Given the description of an element on the screen output the (x, y) to click on. 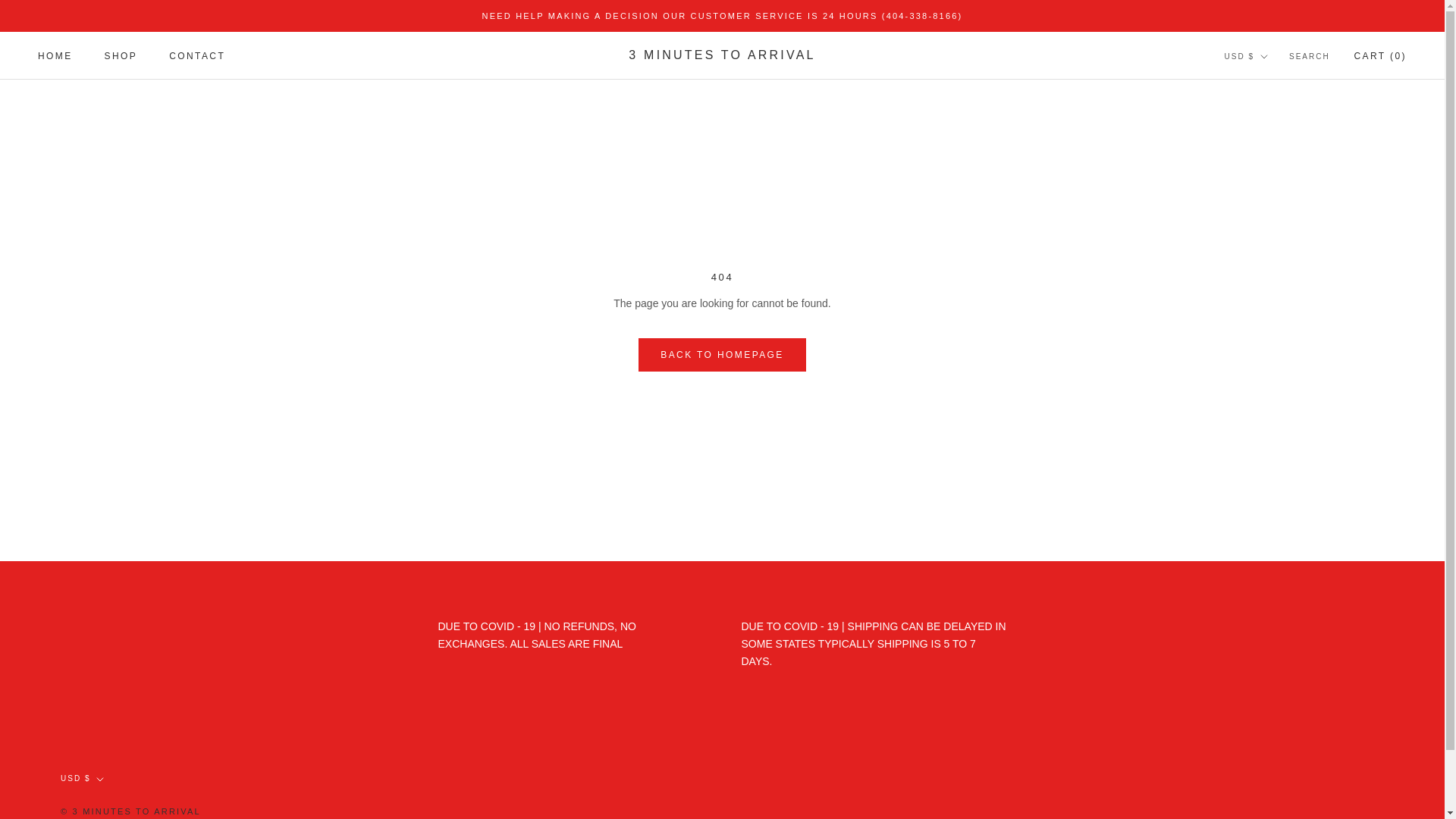
3 MINUTES TO ARRIVAL Element type: text (721, 55)
BZD Element type: text (1272, 430)
BND Element type: text (1272, 349)
USD $ Element type: text (1245, 57)
EGP Element type: text (1272, 671)
DOP Element type: text (1272, 631)
AFN Element type: text (1272, 108)
FKP Element type: text (1272, 751)
BGN Element type: text (1272, 309)
CONTACT
CONTACT Element type: text (197, 55)
FJD Element type: text (1272, 731)
CVE Element type: text (1272, 550)
CART (0) Element type: text (1380, 55)
BWP Element type: text (1272, 409)
CNY Element type: text (1272, 510)
SEARCH Element type: text (1309, 56)
BDT Element type: text (1272, 289)
DJF Element type: text (1272, 590)
CDF Element type: text (1272, 470)
CHF Element type: text (1272, 490)
CAD Element type: text (1272, 449)
EUR Element type: text (1272, 711)
BOB Element type: text (1272, 369)
CRC Element type: text (1272, 530)
AWG Element type: text (1272, 208)
GMD Element type: text (1272, 791)
SHOP
SHOP Element type: text (121, 55)
AMD Element type: text (1272, 148)
BAM Element type: text (1272, 248)
BSD Element type: text (1272, 389)
BBD Element type: text (1272, 269)
DKK Element type: text (1272, 610)
AED Element type: text (1272, 88)
CZK Element type: text (1272, 570)
DZD Element type: text (1272, 650)
GBP Element type: text (1272, 771)
HOME
HOME Element type: text (54, 55)
AUD Element type: text (1272, 188)
AZN Element type: text (1272, 229)
ETB Element type: text (1272, 690)
BIF Element type: text (1272, 329)
ALL Element type: text (1272, 128)
ANG Element type: text (1272, 168)
USD $ Element type: text (81, 779)
BACK TO HOMEPAGE Element type: text (721, 354)
